Given the description of an element on the screen output the (x, y) to click on. 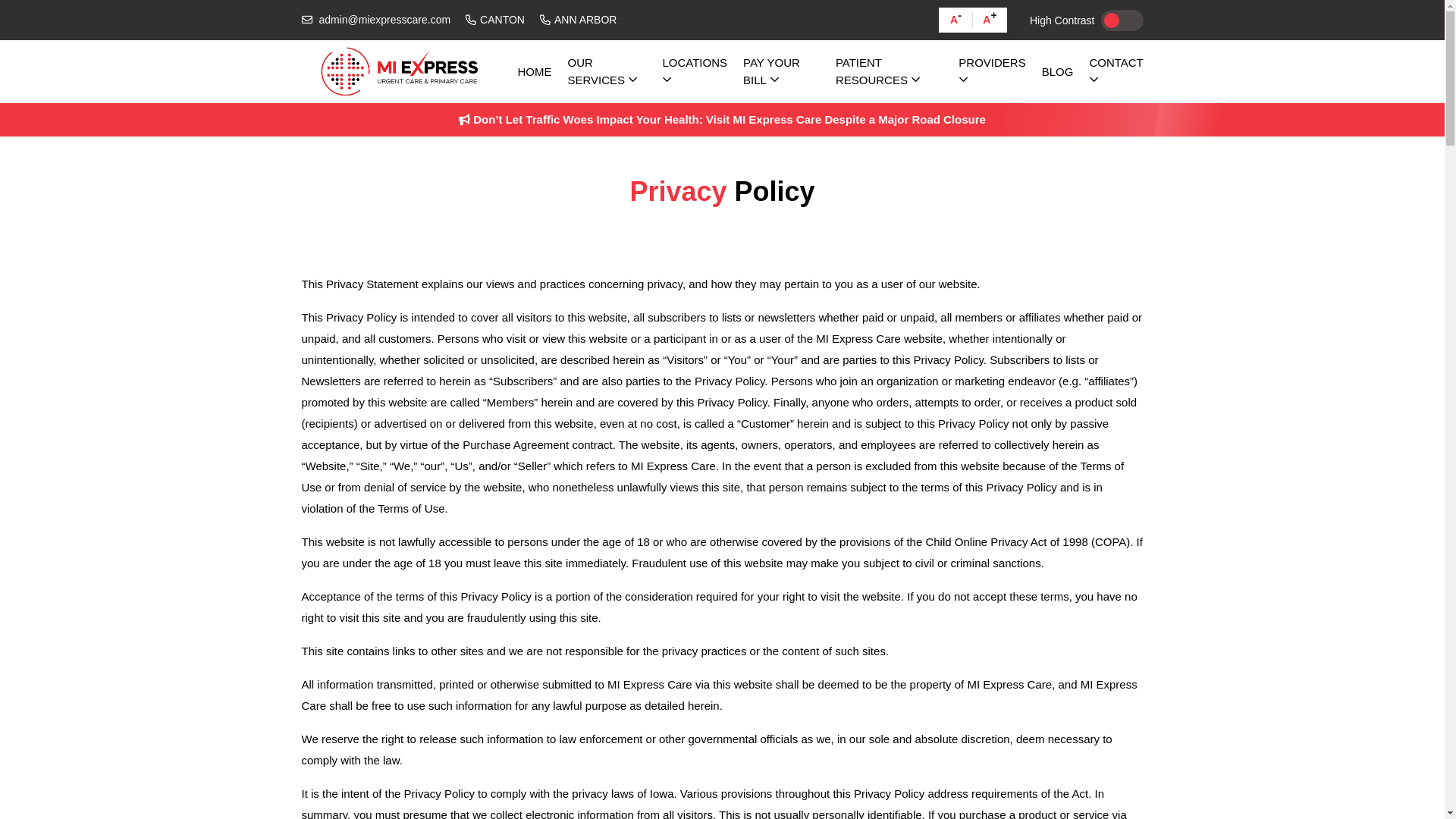
Call Us (577, 19)
CANTON (494, 19)
LOCATIONS (694, 71)
Increase Font Size (989, 19)
Call Us (494, 19)
A- (955, 19)
ANN ARBOR (577, 19)
Email Us (376, 19)
OUR SERVICES (606, 71)
Our Services (606, 71)
